Given the description of an element on the screen output the (x, y) to click on. 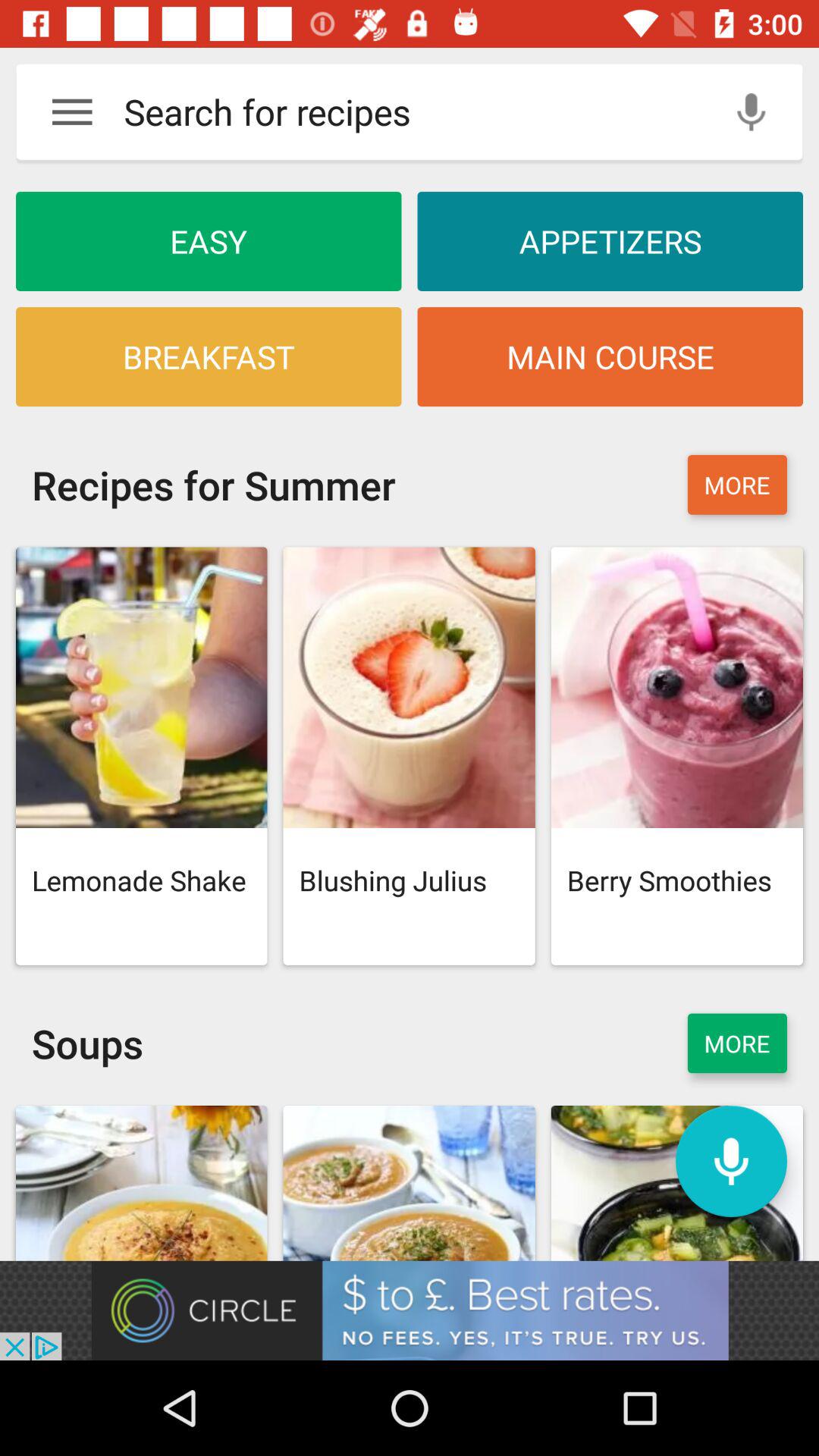
use voice to search recipes (751, 111)
